Given the description of an element on the screen output the (x, y) to click on. 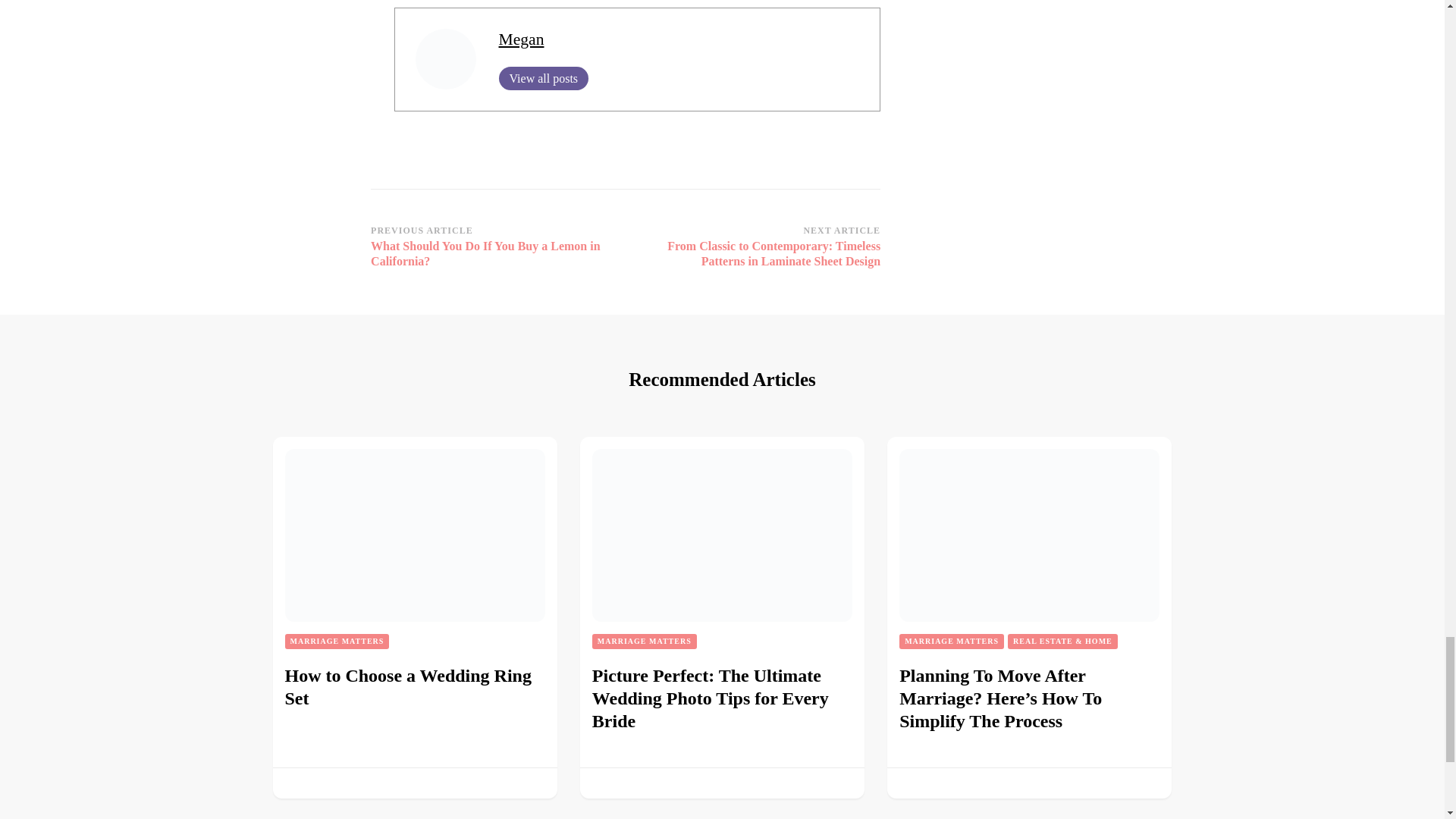
View all posts (544, 78)
Megan (521, 39)
